Given the description of an element on the screen output the (x, y) to click on. 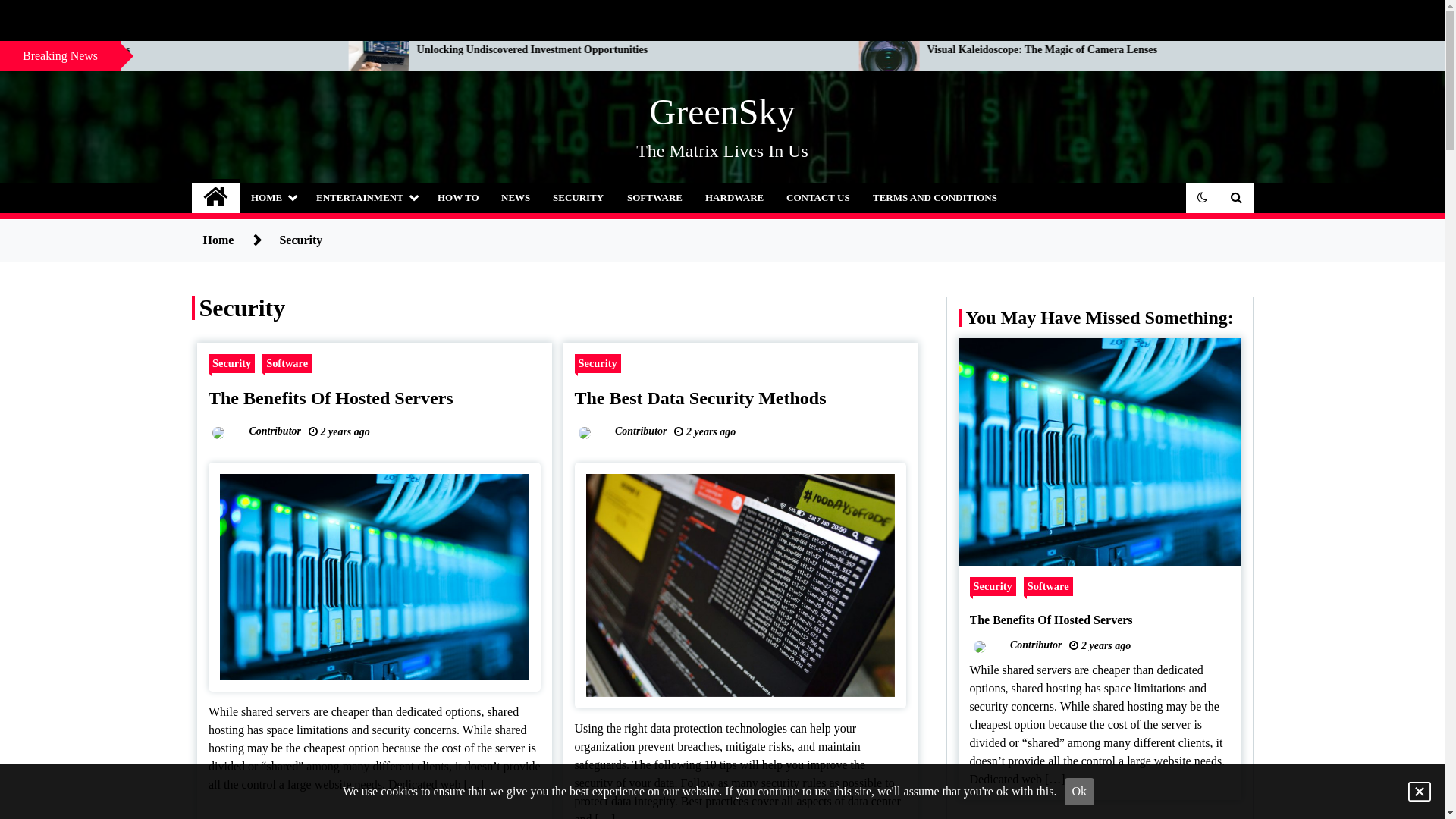
GreenSky Element type: text (722, 111)
CONTACT US Element type: text (818, 197)
Contributor Element type: text (256, 431)
NEWS Element type: text (515, 197)
Contributor Element type: text (1017, 645)
Security Element type: text (597, 363)
Home Element type: text (218, 239)
SOFTWARE Element type: text (654, 197)
Embracing Timelessness of Kodak Film Cameras Element type: text (507, 49)
Software Element type: text (286, 363)
The Benefits Of Hosted Servers Element type: text (1099, 620)
The Best Data Security Methods Element type: text (700, 397)
Software Element type: text (1048, 586)
HARDWARE Element type: text (734, 197)
Home Element type: hover (214, 197)
Security Element type: text (992, 586)
Contributor Element type: text (622, 431)
HOME Element type: text (271, 197)
SECURITY Element type: text (578, 197)
Ok Element type: text (1079, 791)
Unlocking Undiscovered Investment Opportunities Element type: text (1011, 49)
The Benefits Of Hosted Servers Element type: text (330, 397)
TERMS AND CONDITIONS Element type: text (934, 197)
HOW TO Element type: text (458, 197)
Security Element type: text (231, 363)
ENTERTAINMENT Element type: text (365, 197)
